Given the description of an element on the screen output the (x, y) to click on. 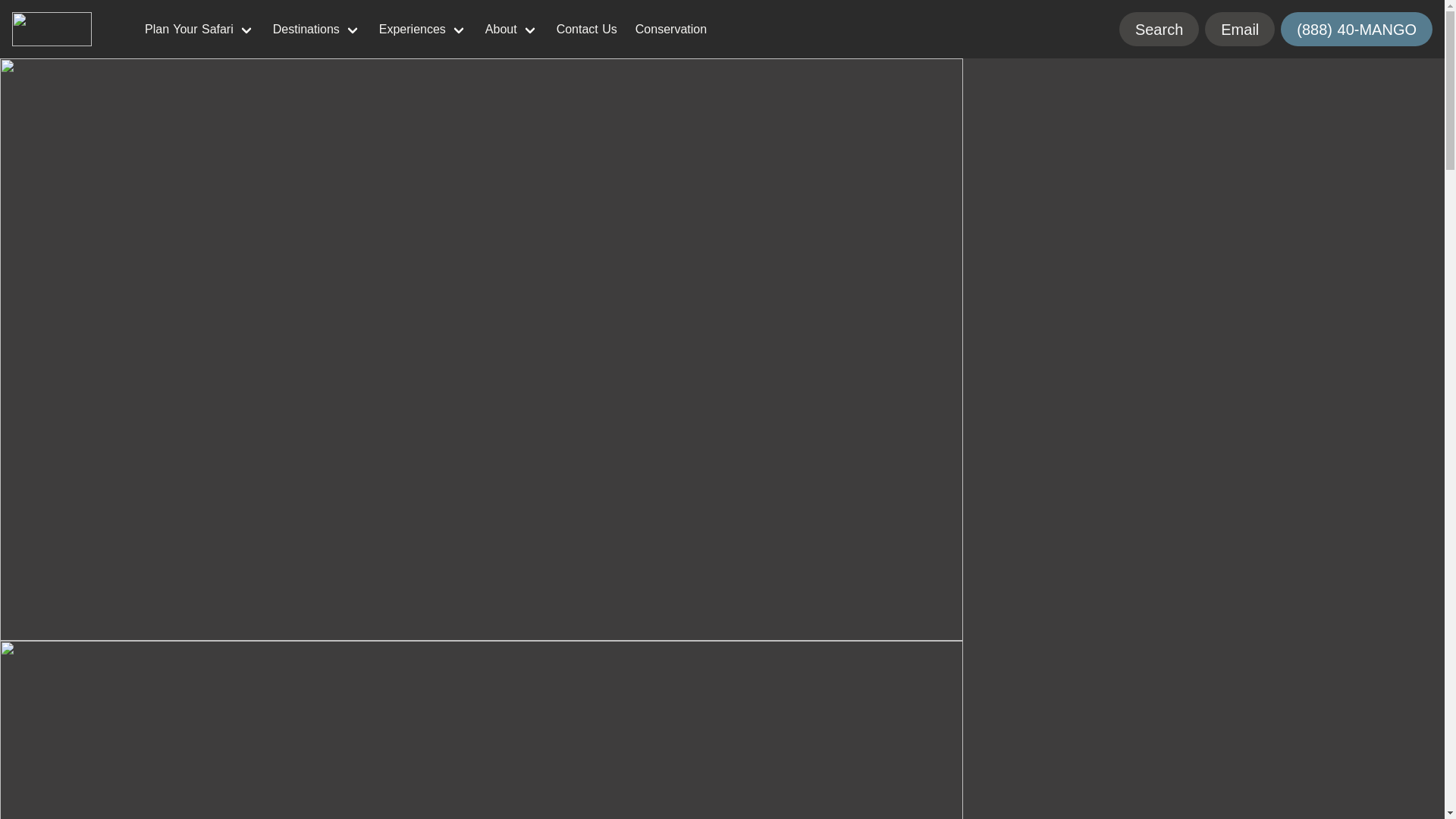
Plan Your Safari (199, 28)
Destinations (316, 28)
Experiences (422, 28)
